Given the description of an element on the screen output the (x, y) to click on. 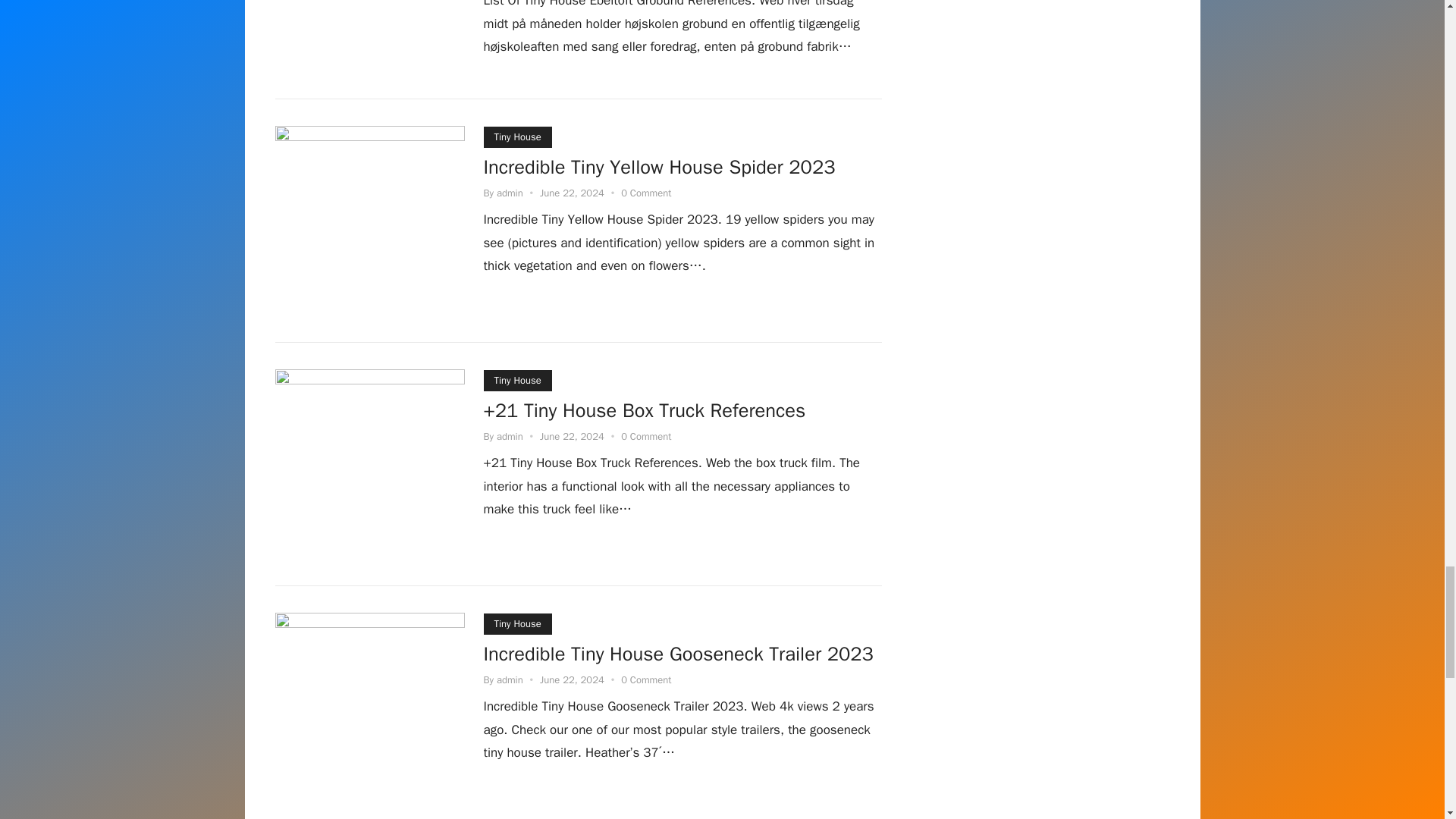
admin (509, 679)
0 Comment (646, 679)
Tiny House (517, 137)
Tiny House (517, 380)
admin (509, 192)
Tiny House (517, 623)
admin (509, 436)
Incredible Tiny Yellow House Spider 2023 (659, 168)
Posts by admin (509, 192)
0 Comment (646, 192)
Posts by admin (509, 436)
Incredible Tiny House Gooseneck Trailer 2023 (678, 655)
0 Comment (646, 436)
Posts by admin (509, 679)
